Given the description of an element on the screen output the (x, y) to click on. 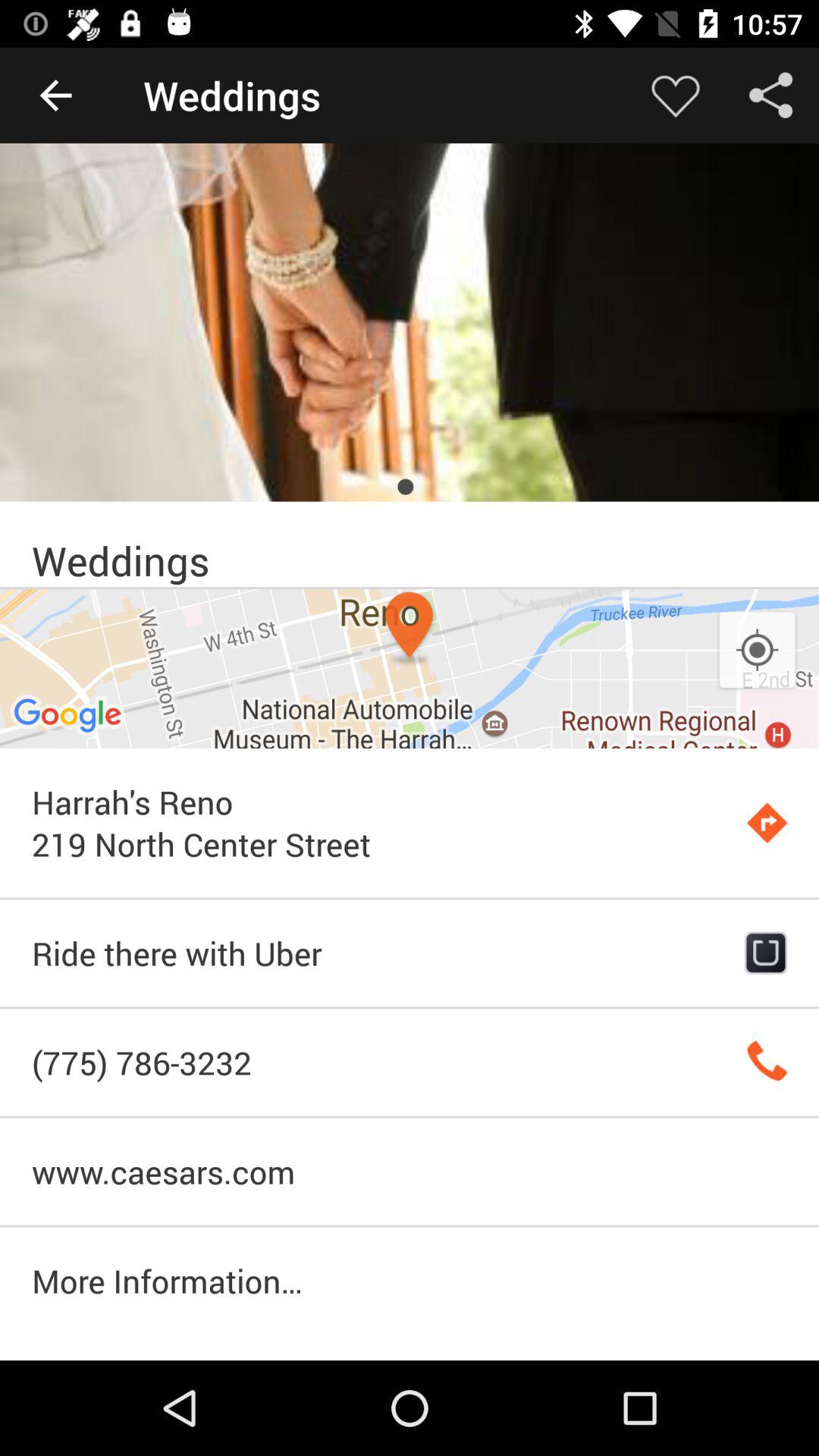
tap the icon next to weddings (675, 95)
